Given the description of an element on the screen output the (x, y) to click on. 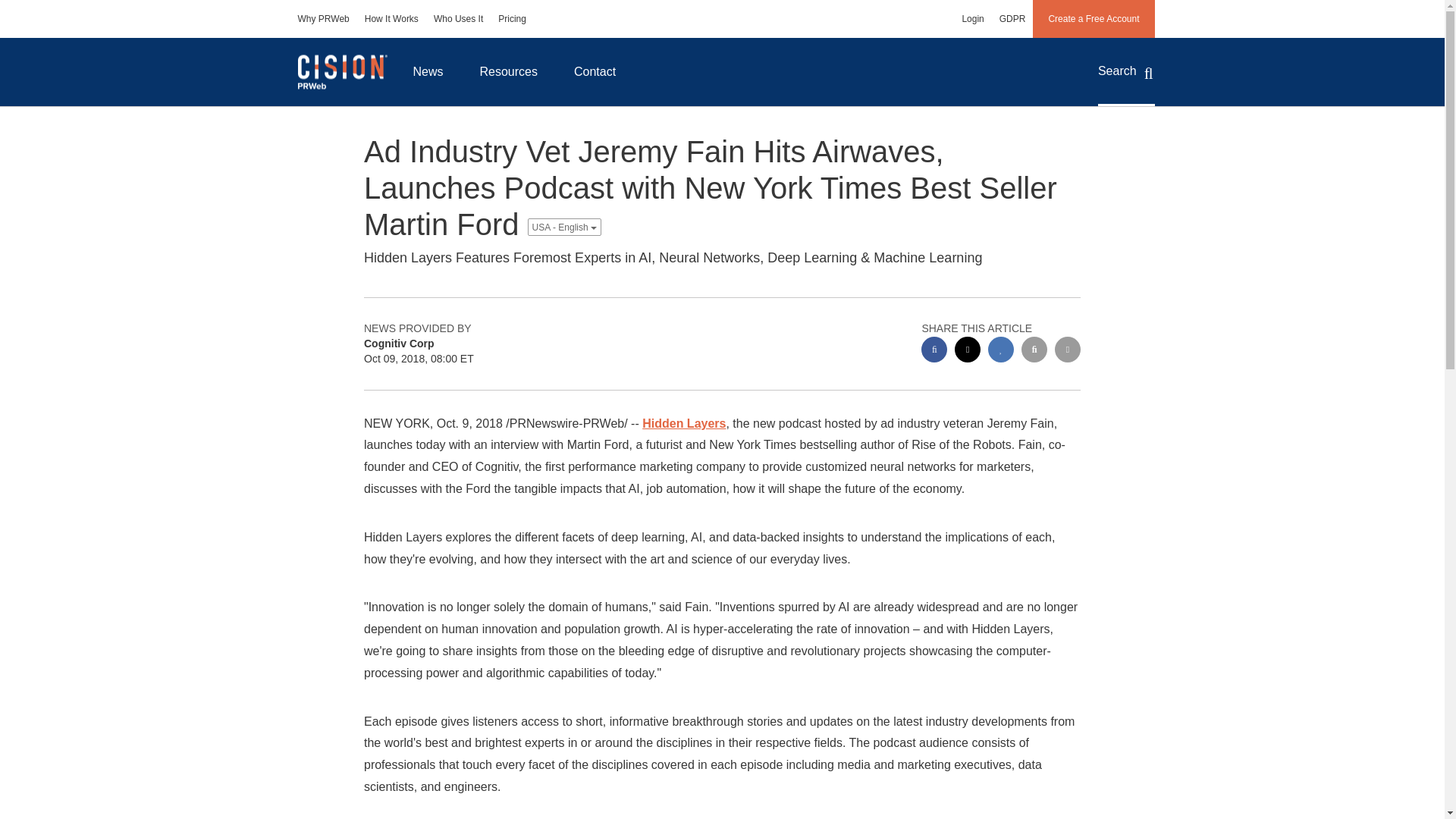
Login (972, 18)
Create a Free Account (1093, 18)
Pricing (512, 18)
Who Uses It (458, 18)
Why PRWeb (322, 18)
Contact (594, 71)
Resources (508, 71)
How It Works (391, 18)
News (427, 71)
GDPR (1012, 18)
